Given the description of an element on the screen output the (x, y) to click on. 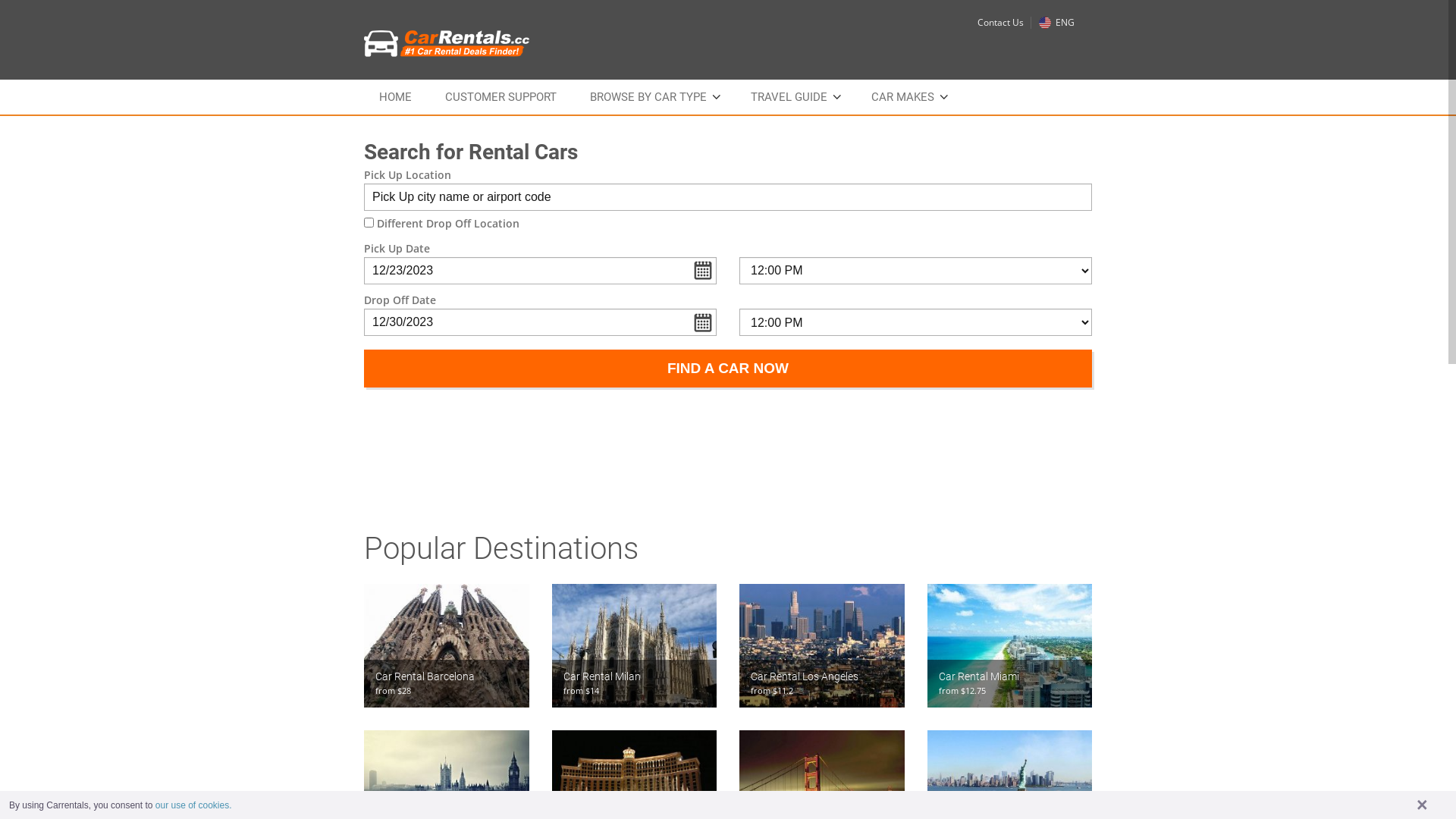
FIND A CAR NOW Element type: text (728, 368)
Car Rental Miami
from $12.75 Element type: text (1009, 645)
Car Rental Barcelona
from $28 Element type: text (446, 645)
Gaviota en el Top Element type: hover (446, 645)
Gaviota en el Top Element type: hover (634, 645)
CAR MAKES Element type: text (908, 96)
ENG Element type: text (1056, 21)
our use of cookies. Element type: text (193, 805)
Gaviota en el Top Element type: hover (1009, 645)
BROWSE BY CAR TYPE Element type: text (653, 96)
HOME Element type: text (395, 96)
en Element type: hover (1044, 22)
TRAVEL GUIDE Element type: text (794, 96)
Car Rental Los Angeles
from $11.2 Element type: text (821, 645)
Contact Us Element type: text (1000, 21)
CUSTOMER SUPPORT Element type: text (500, 96)
Gaviota en el Top Element type: hover (821, 645)
Car Rental Milan
from $14 Element type: text (634, 645)
Advertisement Element type: hover (727, 444)
